Given the description of an element on the screen output the (x, y) to click on. 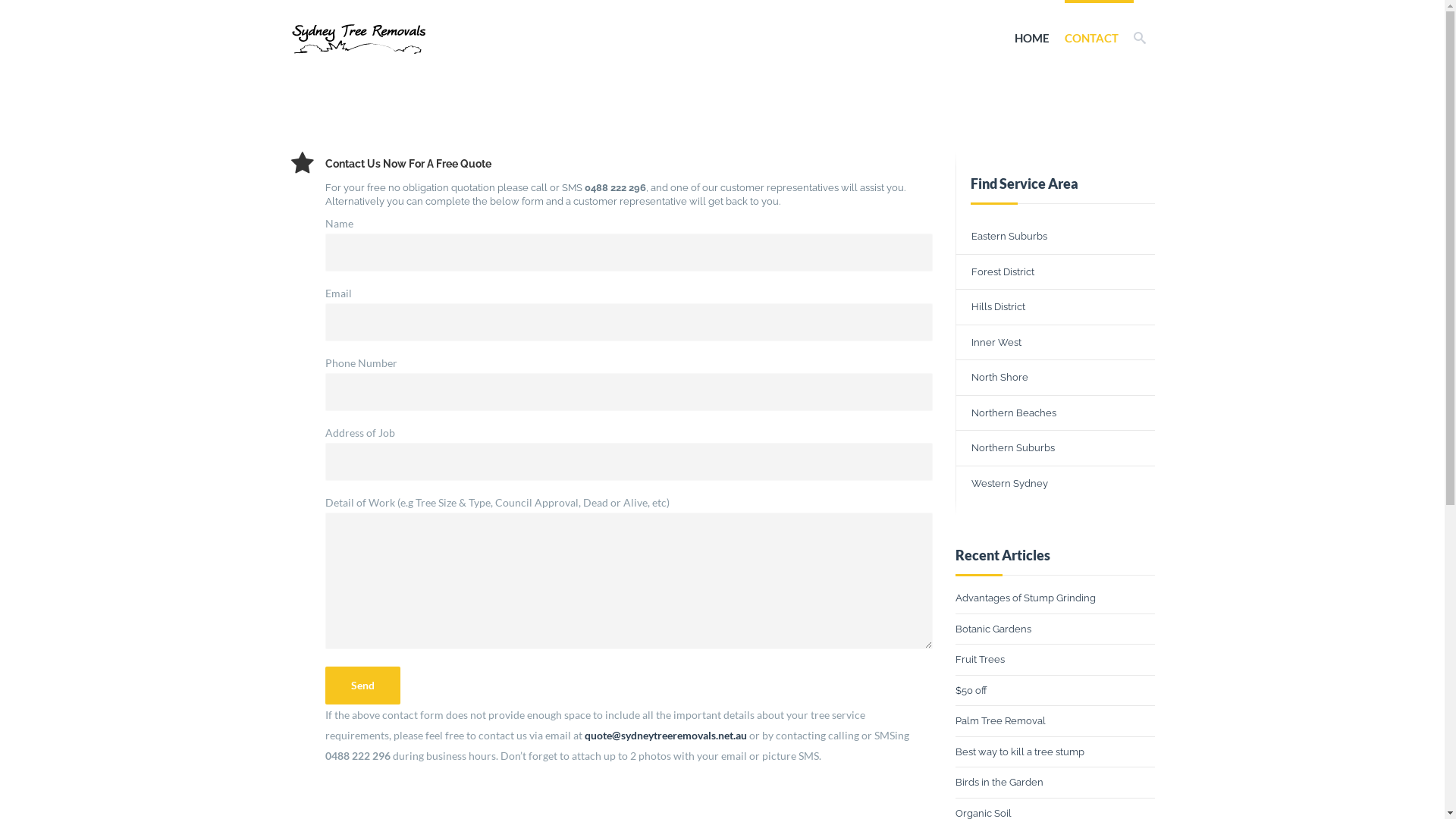
Eastern Suburbs Element type: text (1054, 236)
Botanic Gardens Element type: text (993, 628)
Northern Suburbs Element type: text (1054, 447)
North Shore Element type: text (1054, 377)
$50 off Element type: text (971, 689)
Western Sydney Element type: text (1054, 482)
Fruit Trees Element type: text (979, 659)
CONTACT Element type: text (1091, 37)
Inner West Element type: text (1054, 341)
Best way to kill a tree stump Element type: text (1019, 751)
Palm Tree Removal Element type: text (1000, 720)
HOME Element type: text (1032, 37)
Hills District Element type: text (1054, 306)
Northern Beaches Element type: text (1054, 412)
Advantages of Stump Grinding Element type: text (1025, 597)
Send Element type: text (361, 685)
Birds in the Garden Element type: text (999, 781)
Forest District Element type: text (1054, 271)
quote@sydneytreeremovals.net.au Element type: text (664, 734)
Organic Soil Element type: text (983, 812)
